Given the description of an element on the screen output the (x, y) to click on. 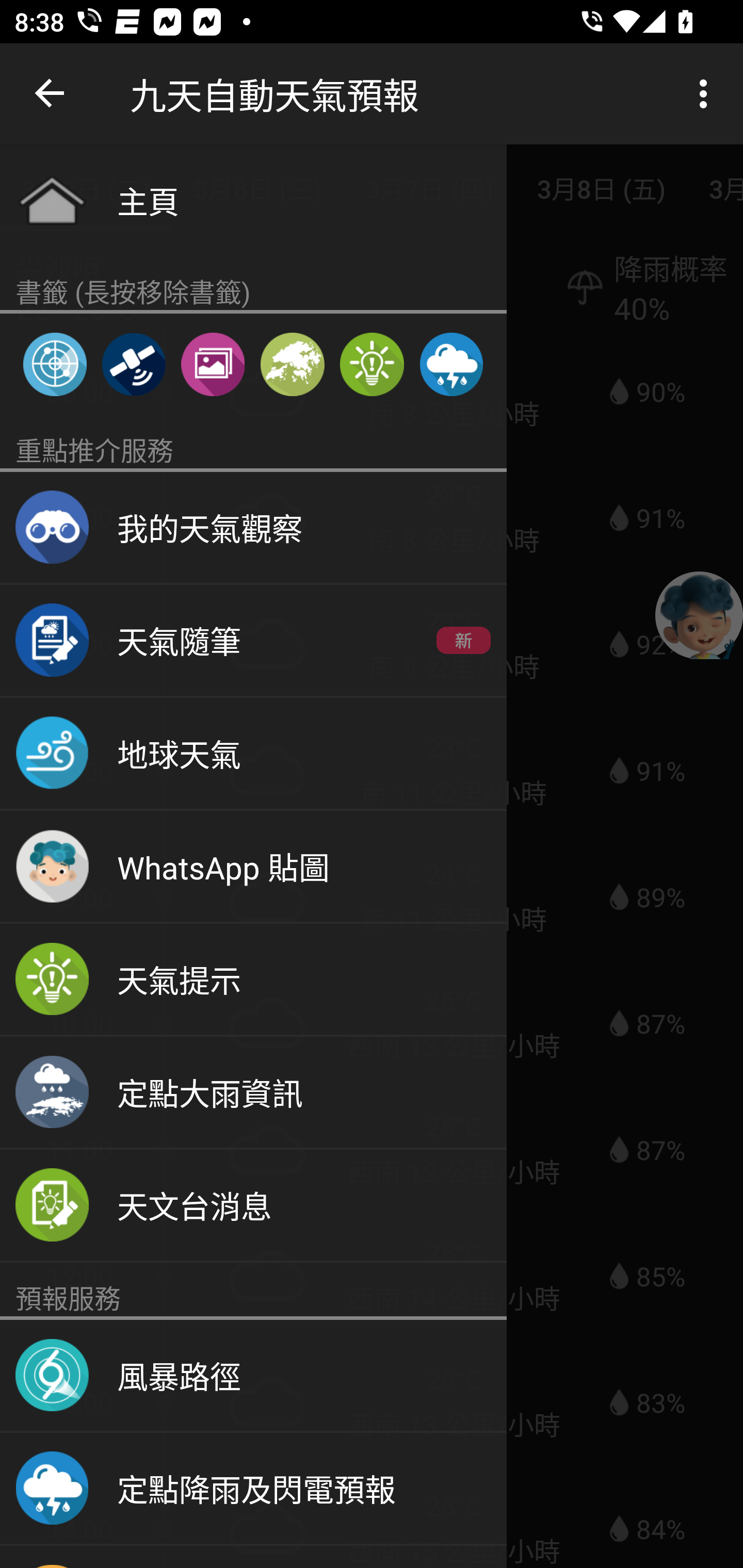
向上瀏覽 (50, 93)
更多選項 (706, 93)
主頁 (253, 199)
雷達圖像 (54, 364)
衛星圖像 (133, 364)
天氣照片 (212, 364)
分區天氣 (292, 364)
天氣提示 (371, 364)
定點降雨及閃電預報 (451, 364)
我的天氣觀察 (253, 527)
天氣隨筆 新功能 (253, 640)
地球天氣 (253, 753)
WhatsApp 貼圖 (253, 866)
天氣提示 (253, 979)
定點大雨資訊 (253, 1092)
天文台消息 (253, 1205)
風暴路徑 (253, 1375)
定點降雨及閃電預報 (253, 1488)
